Given the description of an element on the screen output the (x, y) to click on. 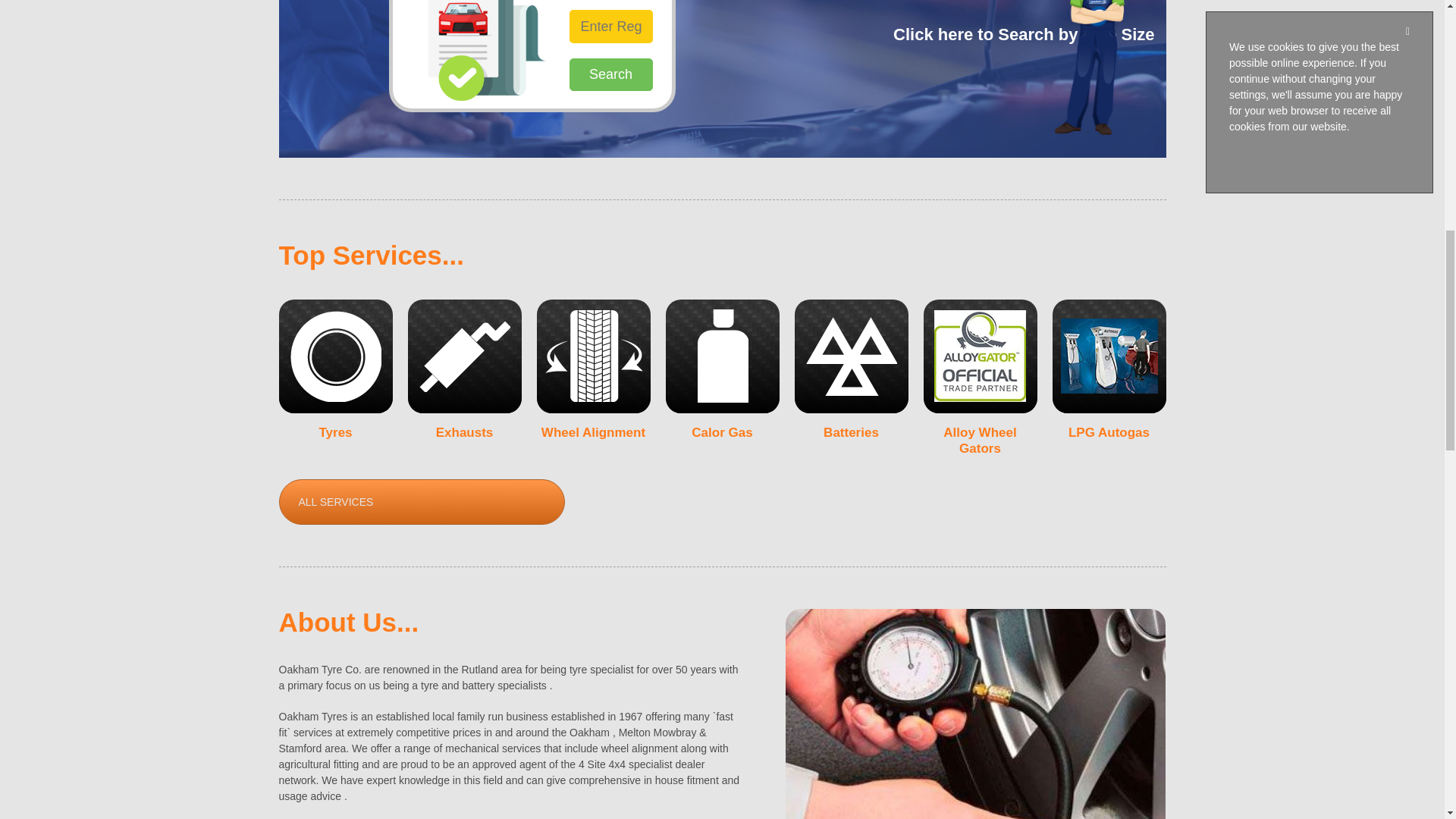
ALL SERVICES (421, 501)
Click here to Search by Tyre Size (1023, 40)
Search (610, 74)
